Given the description of an element on the screen output the (x, y) to click on. 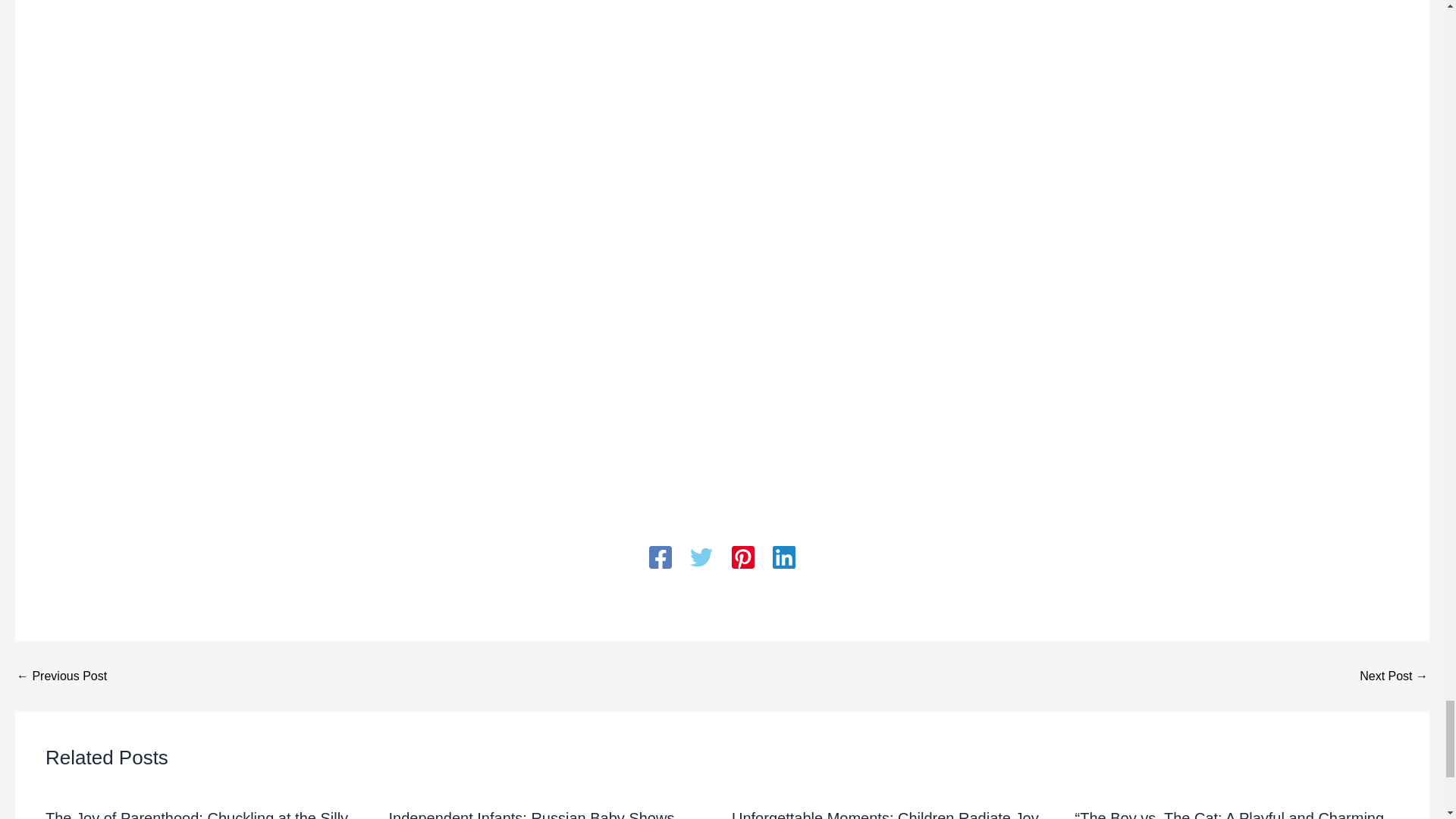
"The Elusive Iberian Lynx: A Rare Feline Wonder" (1393, 676)
"Downcast Pup: A Heartbreaking Tale of Lost Hope and Defeat" (61, 676)
